Given the description of an element on the screen output the (x, y) to click on. 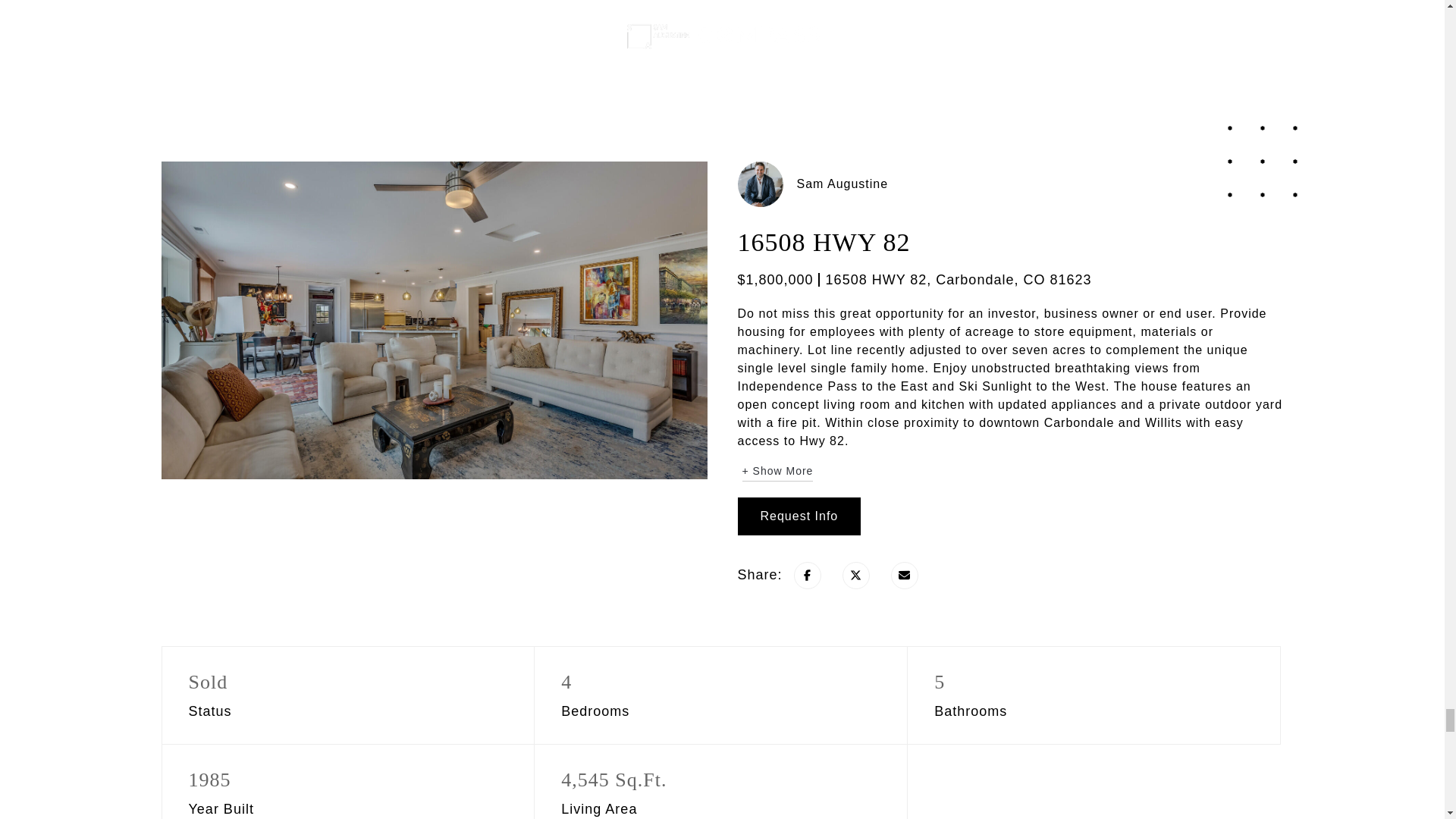
Request Info (798, 516)
